Given the description of an element on the screen output the (x, y) to click on. 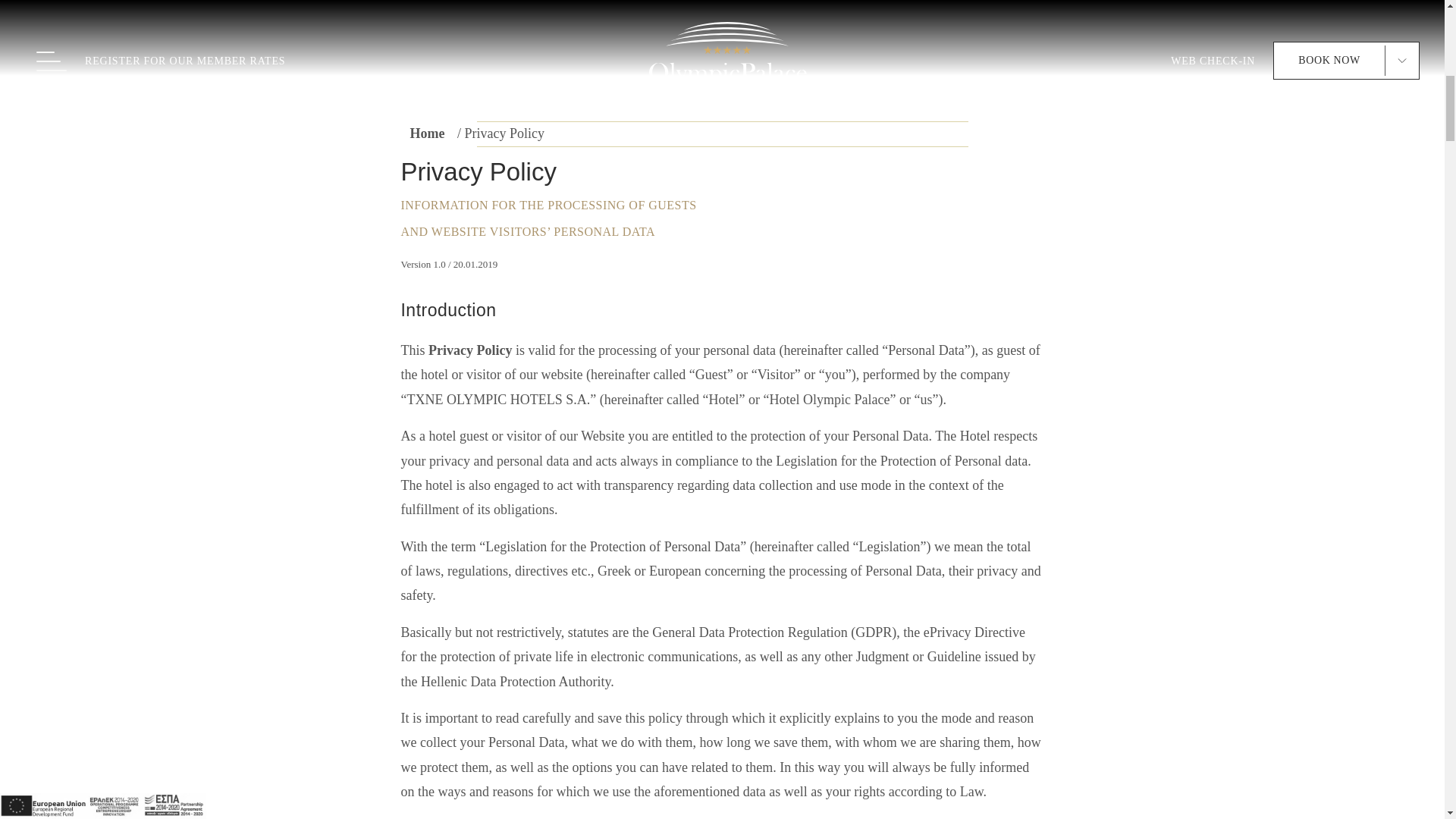
Home (426, 133)
